Given the description of an element on the screen output the (x, y) to click on. 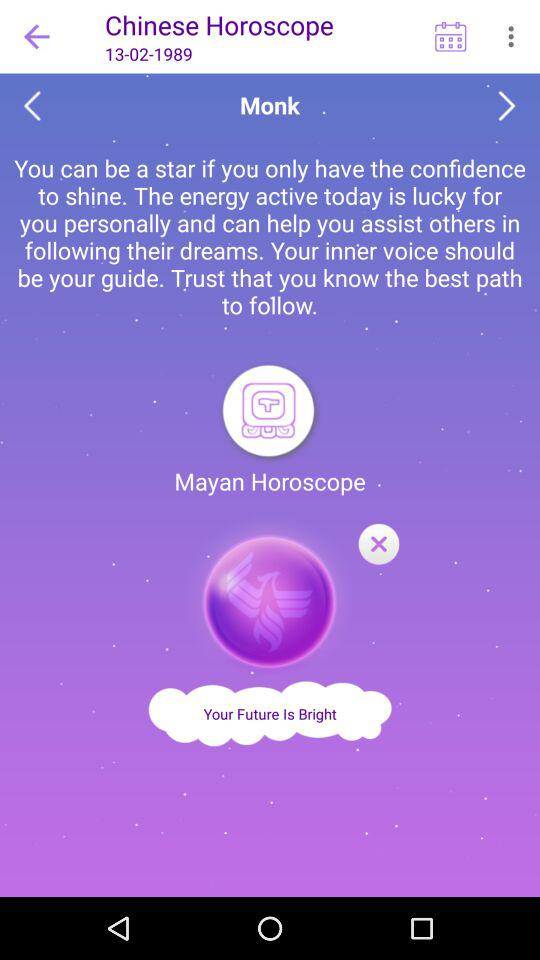
colos page (378, 545)
